Given the description of an element on the screen output the (x, y) to click on. 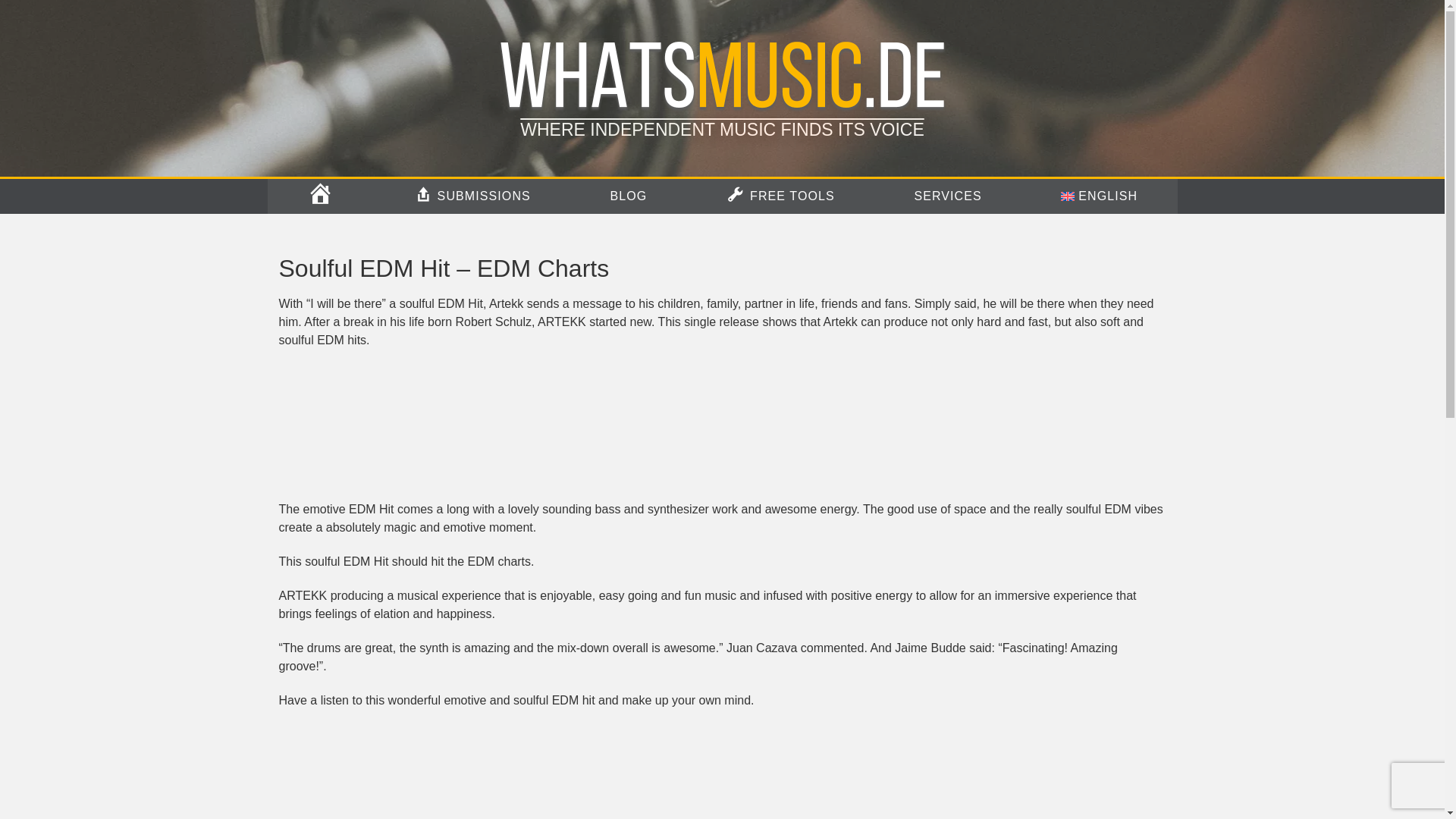
English (1099, 195)
SUBMISSIONS (471, 195)
FREE TOOLS (780, 195)
Spotify Embed: I will be there (722, 772)
HOME (320, 195)
BLOG (627, 195)
ENGLISH (1099, 195)
SERVICES (947, 195)
